Given the description of an element on the screen output the (x, y) to click on. 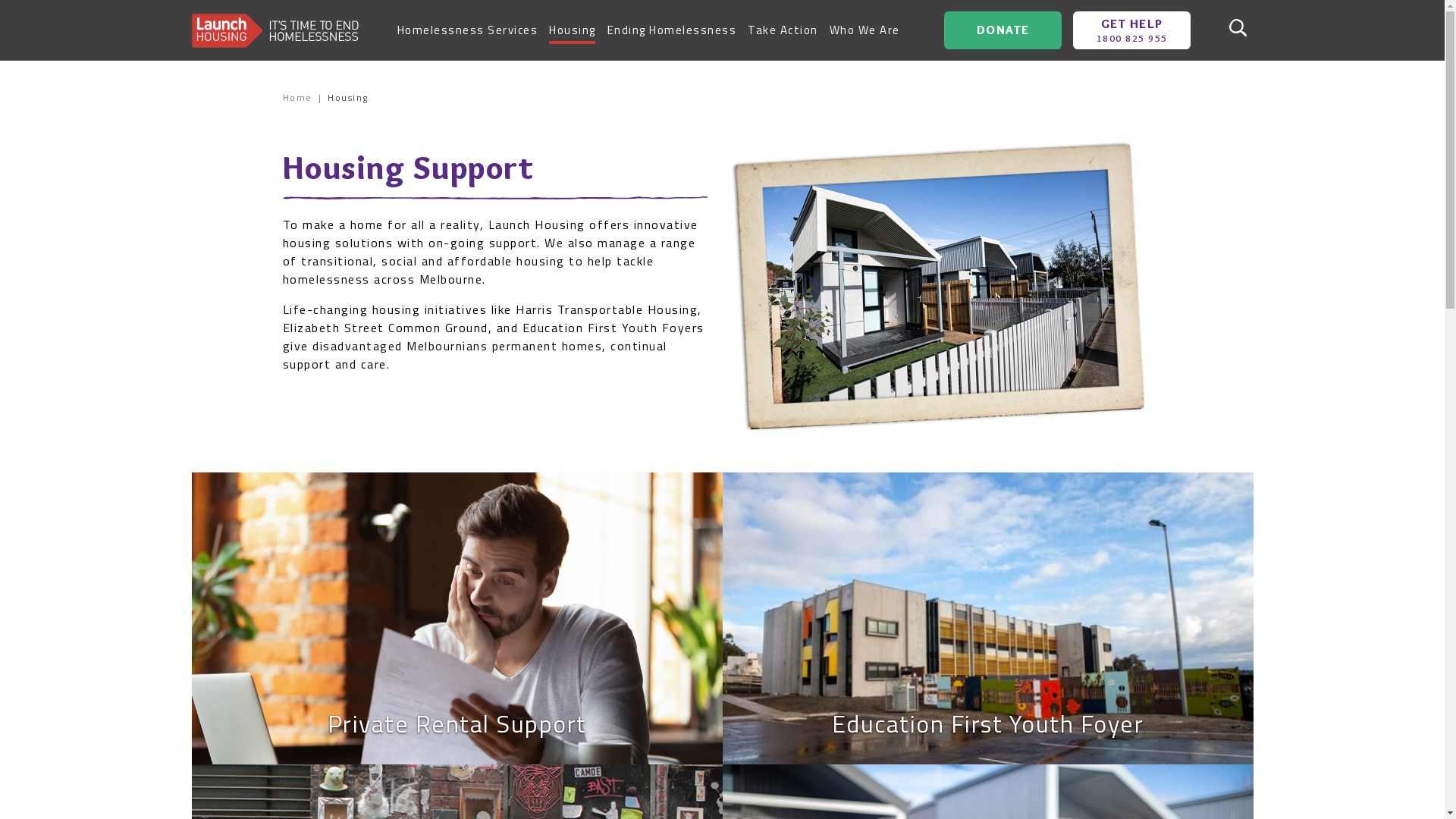
Housing Element type: text (572, 29)
Who We Are Element type: text (864, 29)
DONATE Element type: text (1002, 30)
Search Element type: hover (1237, 30)
Housing Element type: text (347, 97)
Private Rental Support Element type: text (456, 618)
Ending Homelessness Element type: text (671, 29)
Education First Youth Foyer Element type: text (986, 618)
Homelessness Services Element type: text (467, 29)
GET HELP
1800 825 955 Element type: text (1131, 30)
Take Action Element type: text (782, 29)
Home Element type: text (296, 97)
